Given the description of an element on the screen output the (x, y) to click on. 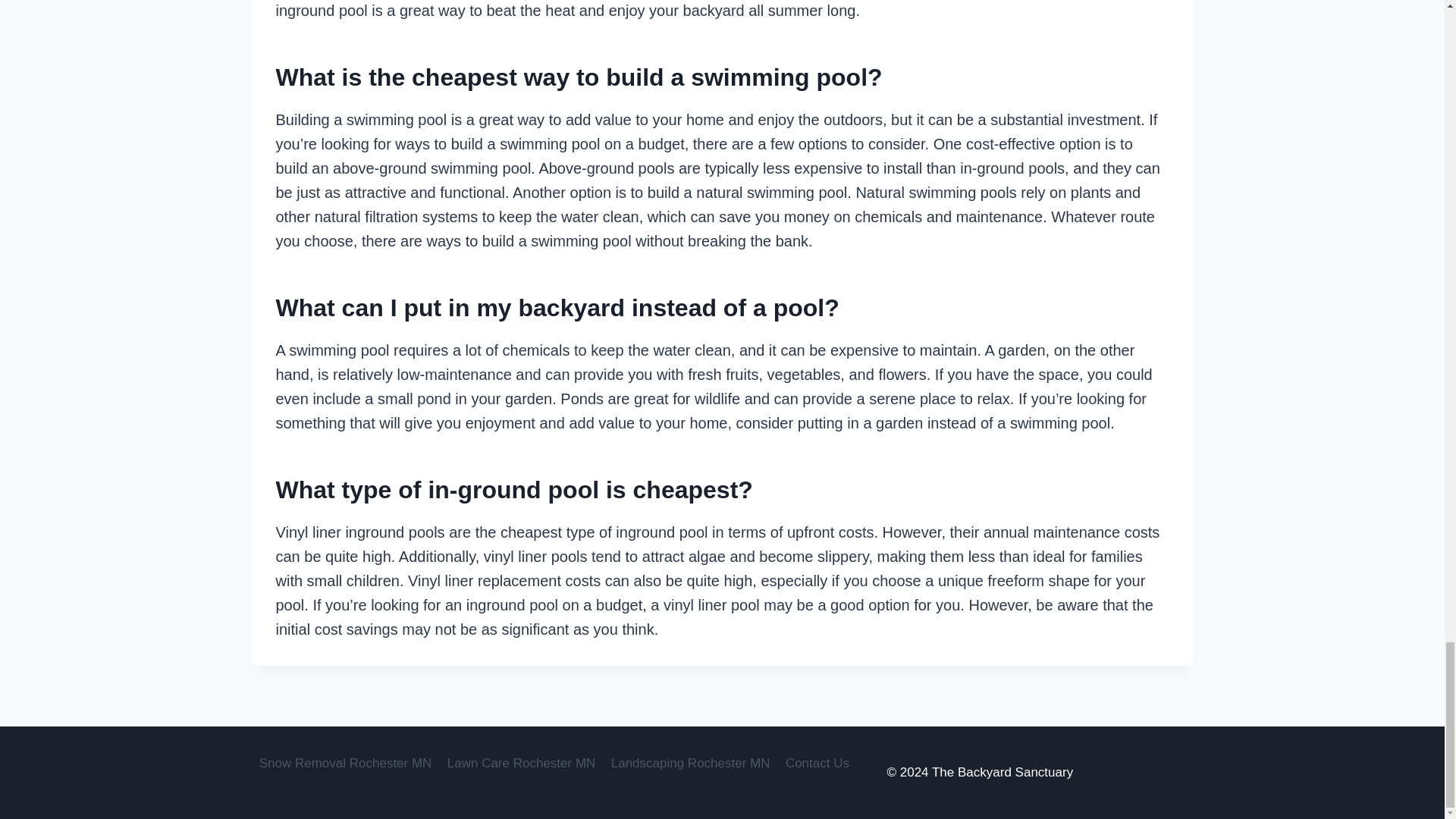
Lawn Care Rochester MN (521, 763)
Landscaping Rochester MN (690, 763)
Snow Removal Rochester MN (345, 763)
